Given the description of an element on the screen output the (x, y) to click on. 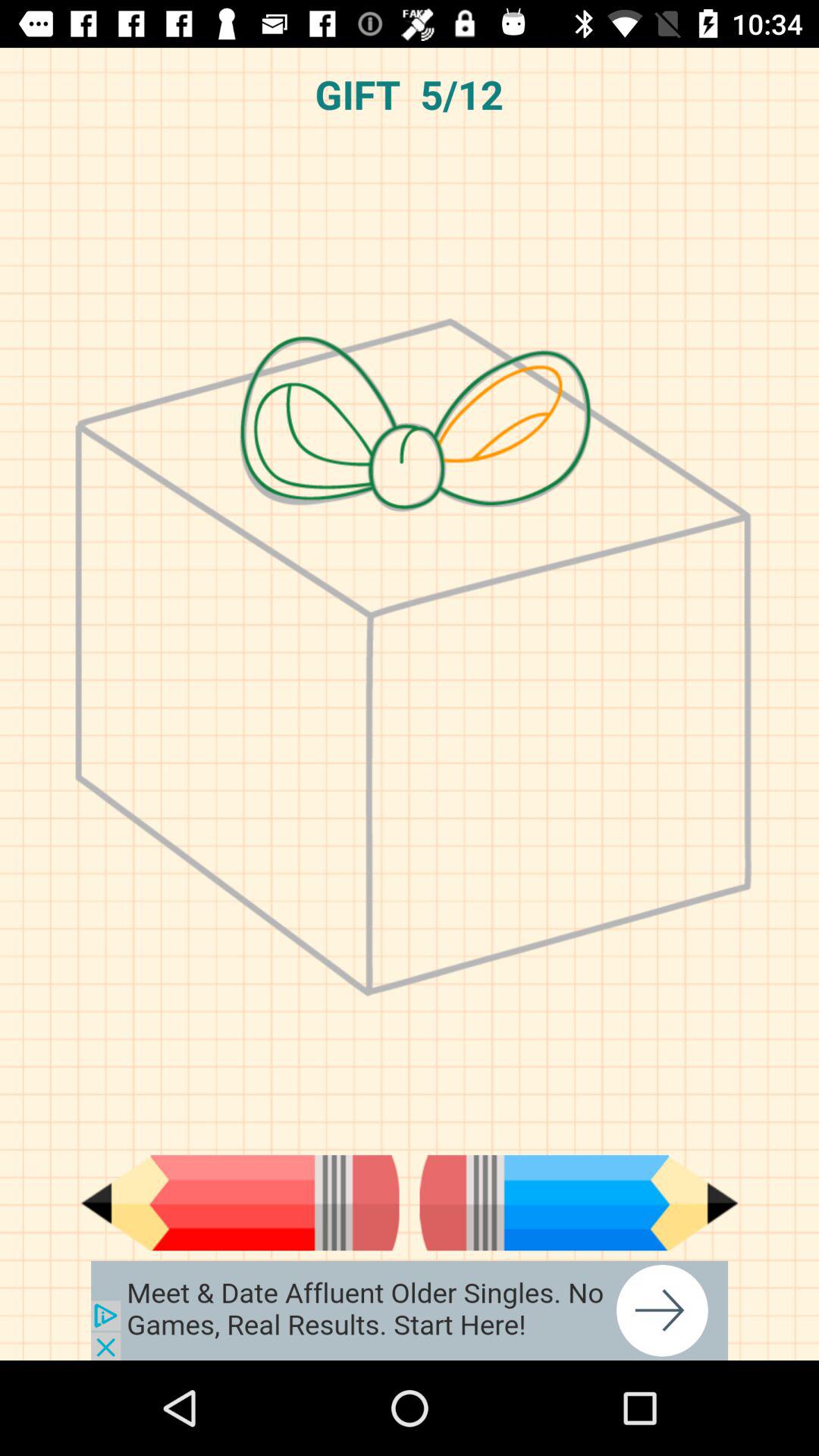
go to next (578, 1202)
